Given the description of an element on the screen output the (x, y) to click on. 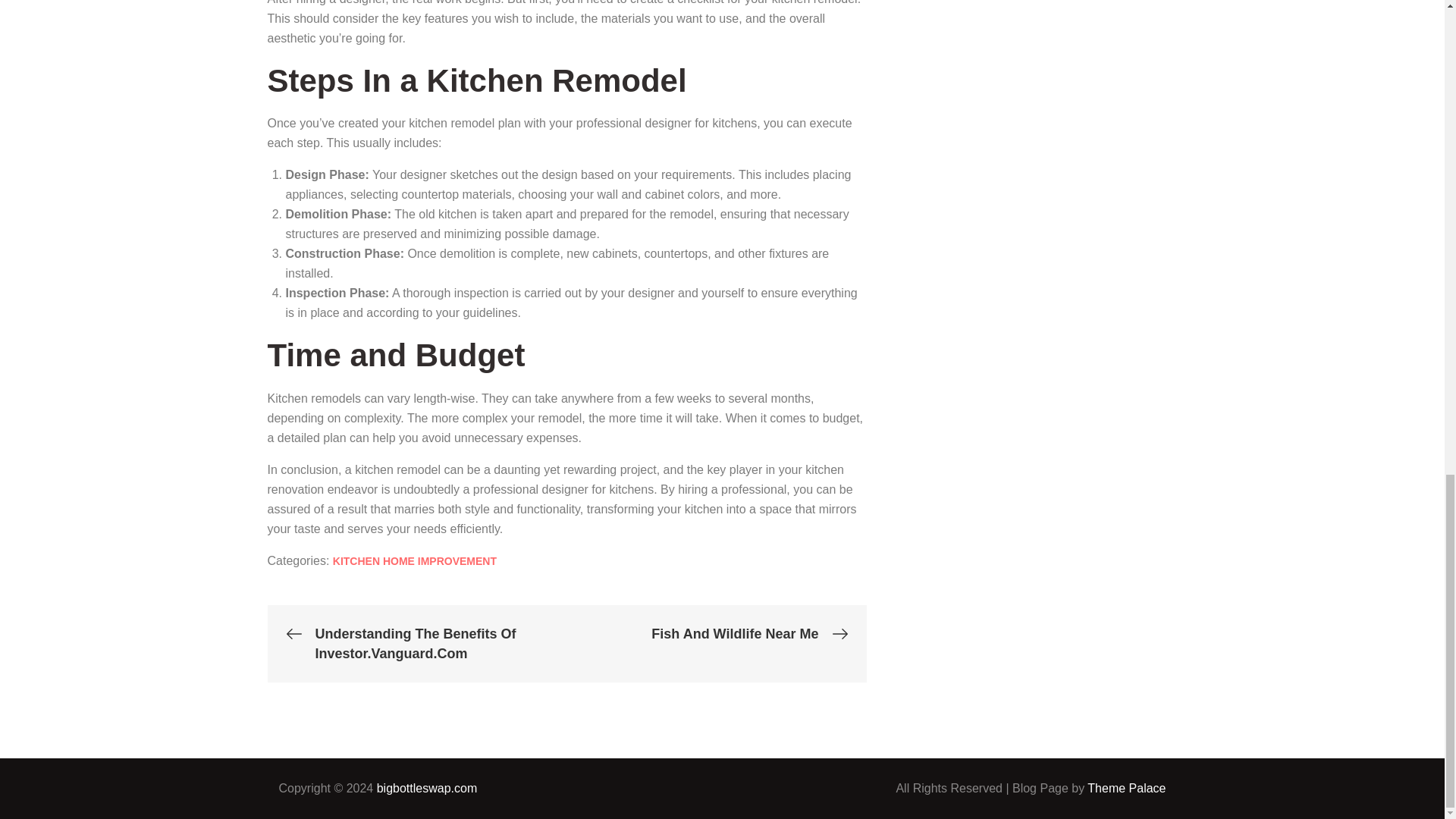
KITCHEN HOME IMPROVEMENT (414, 561)
bigbottleswap.com (427, 788)
Theme Palace (1126, 788)
